Given the description of an element on the screen output the (x, y) to click on. 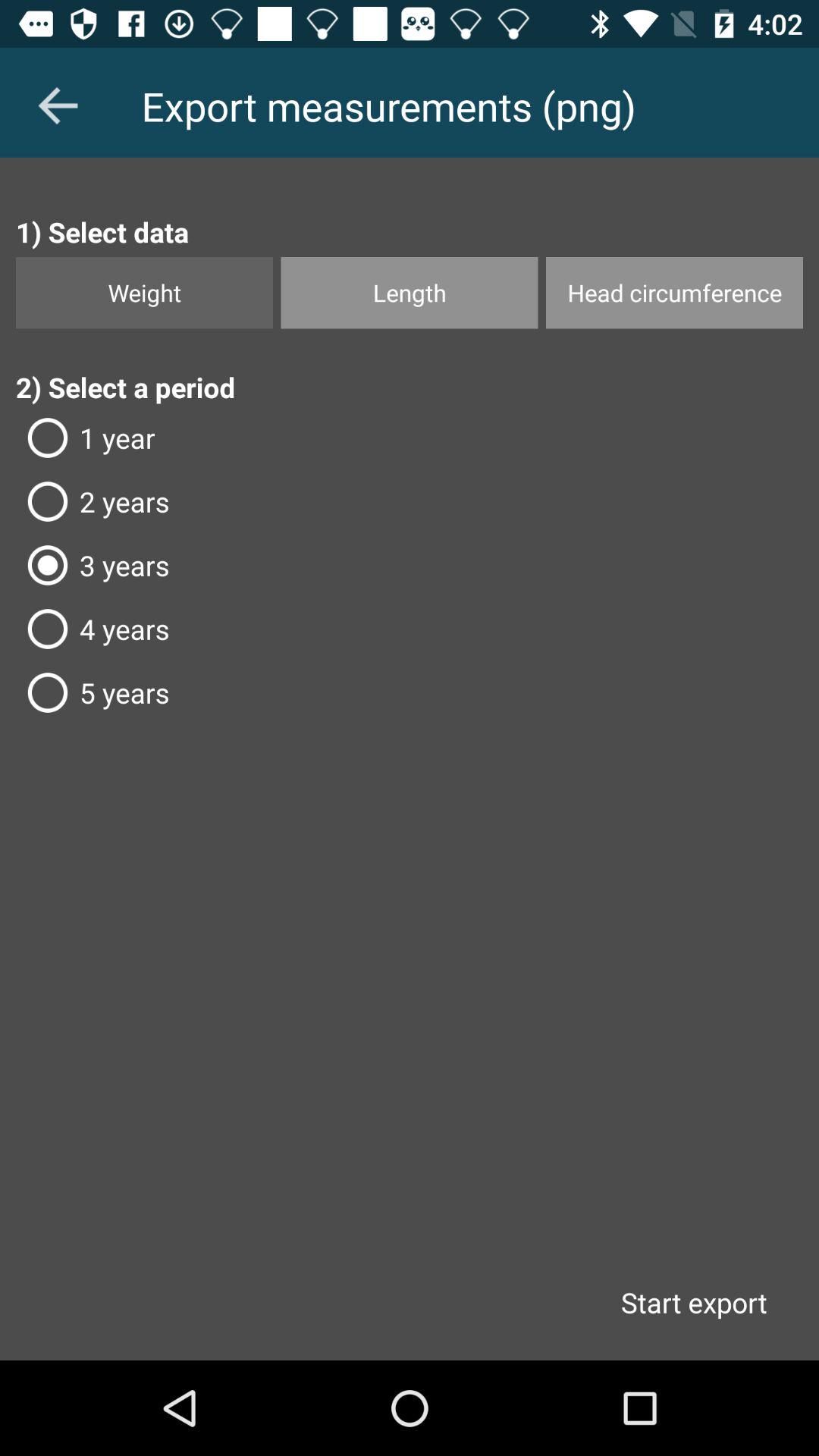
jump to the 4 years item (409, 628)
